Given the description of an element on the screen output the (x, y) to click on. 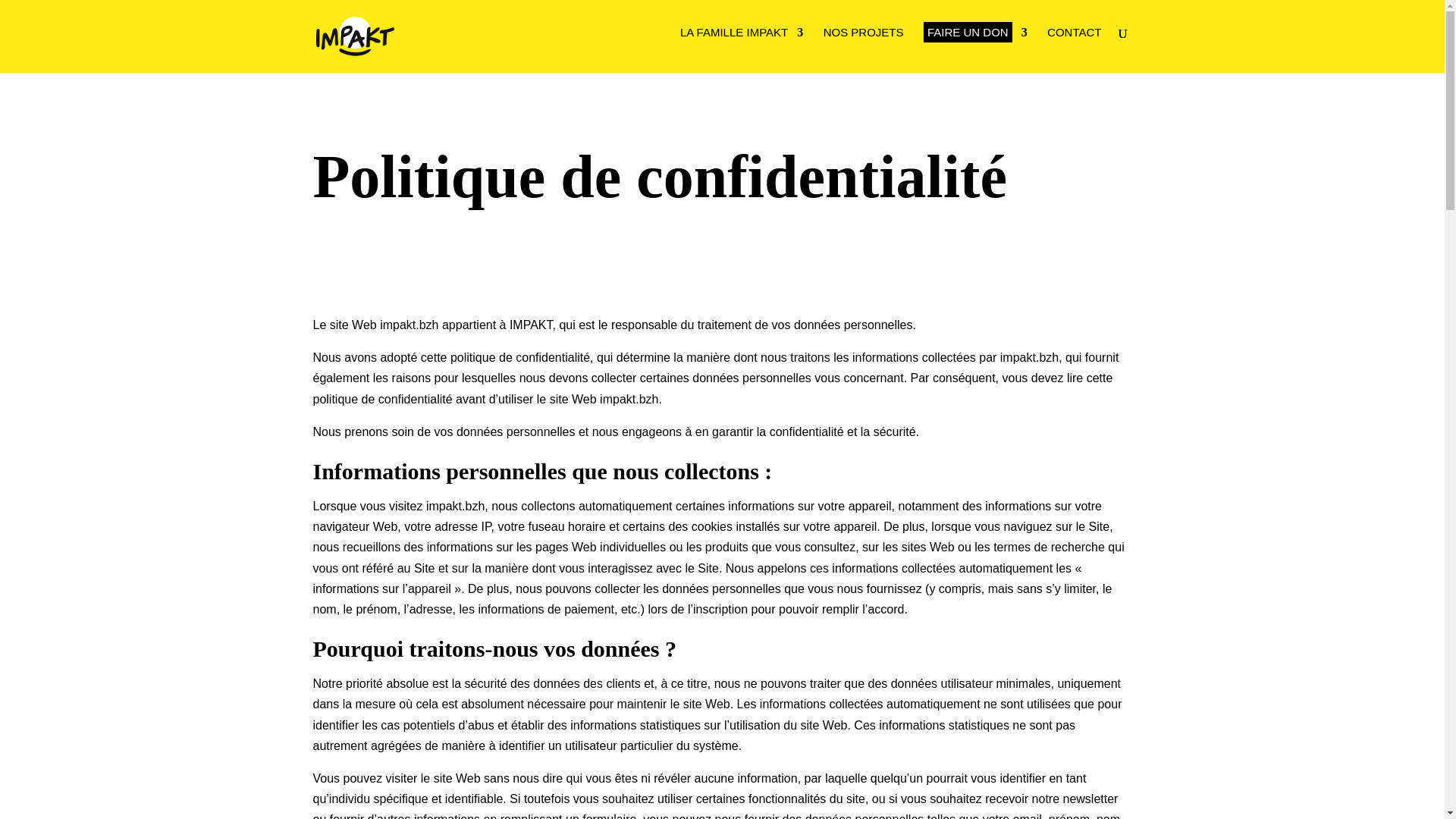
CONTACT Element type: text (1074, 36)
NOS PROJETS Element type: text (863, 36)
FAIRE UN DON Element type: text (975, 36)
LA FAMILLE IMPAKT Element type: text (741, 36)
